Given the description of an element on the screen output the (x, y) to click on. 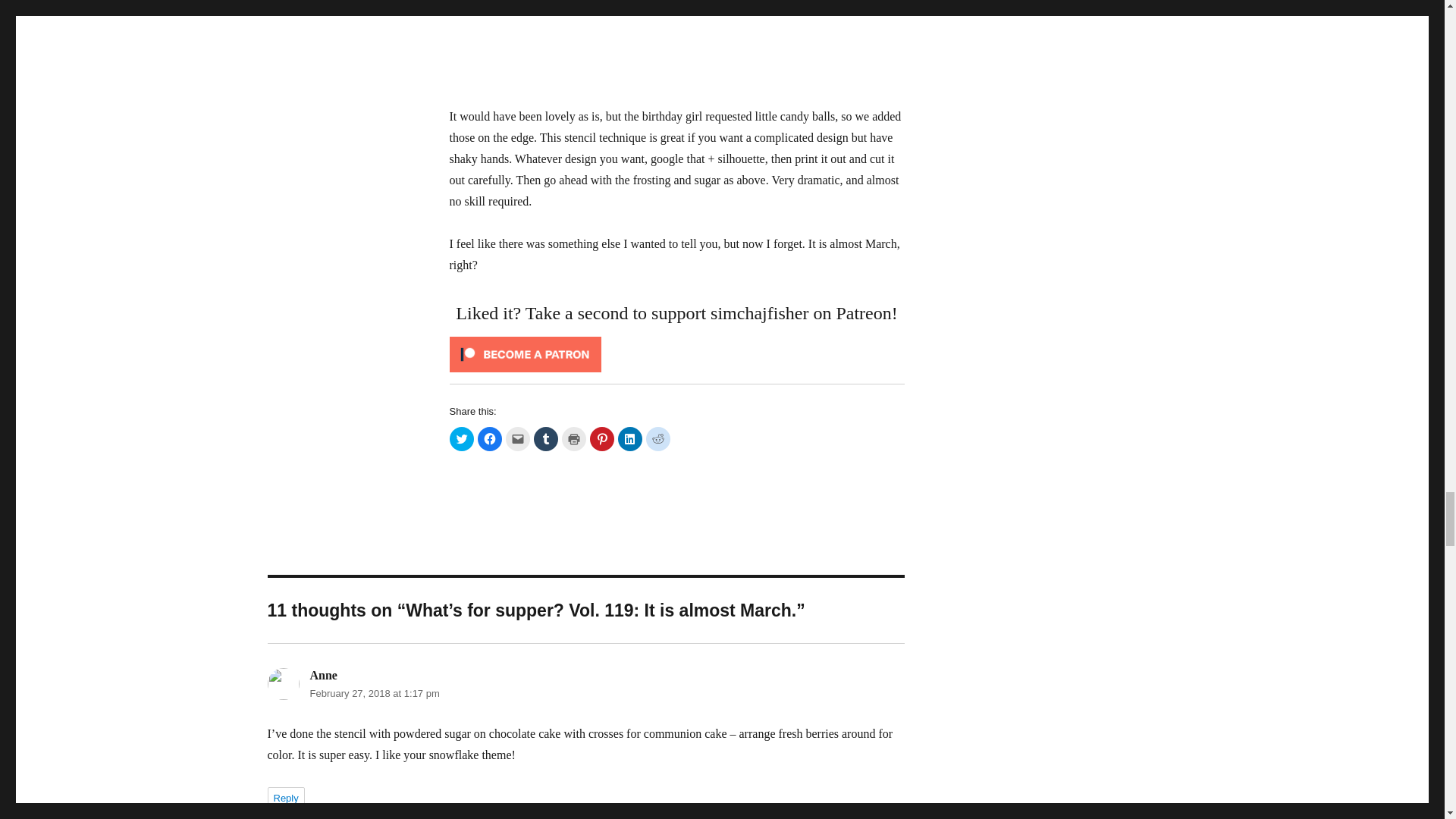
Click to print (572, 438)
Click to share on Reddit (657, 438)
Click to email a link to a friend (517, 438)
Click to share on Tumblr (545, 438)
Click to share on Facebook (489, 438)
Click to share on Twitter (460, 438)
Click to share on LinkedIn (629, 438)
Click to share on Pinterest (601, 438)
